Given the description of an element on the screen output the (x, y) to click on. 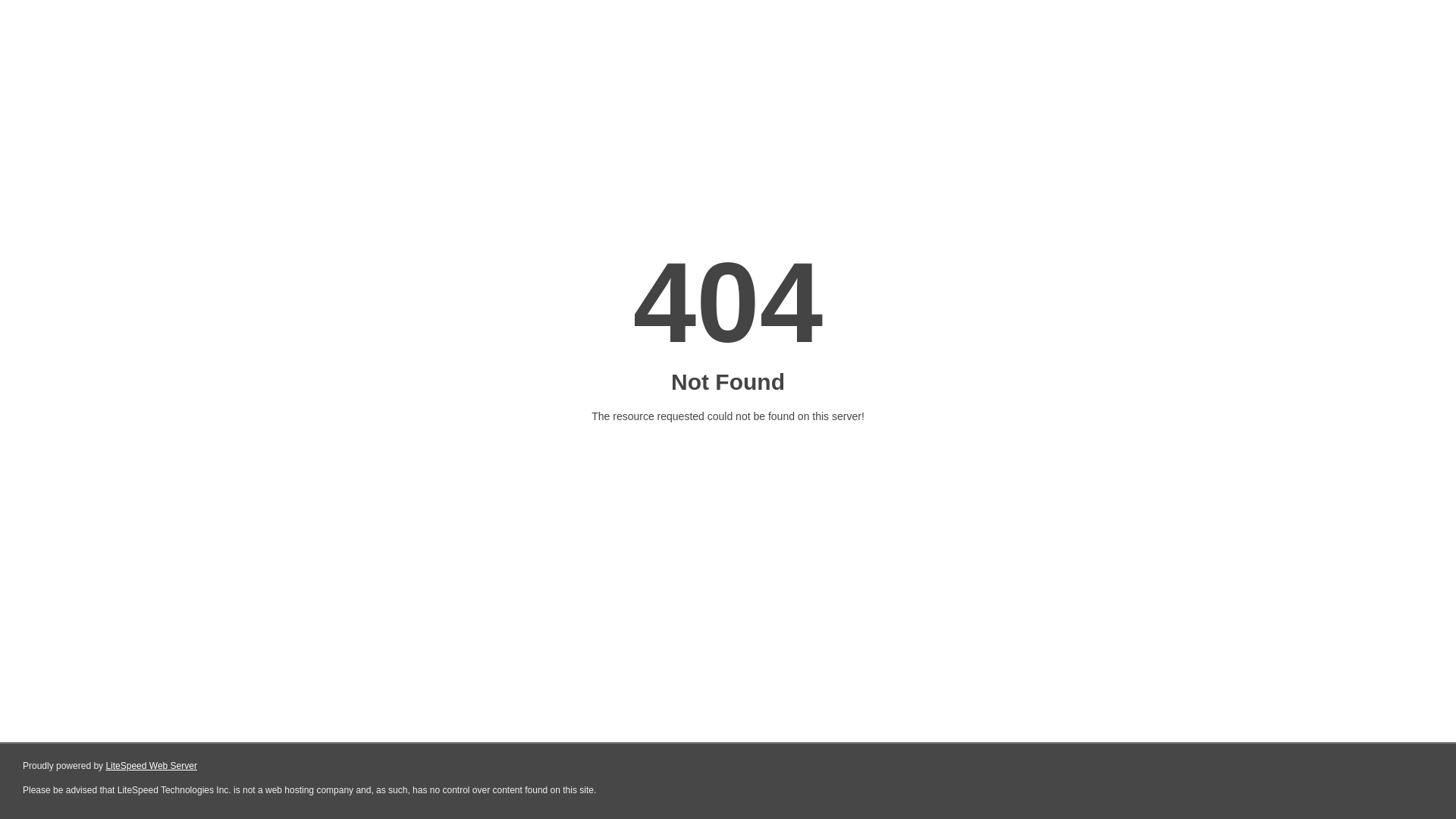
LiteSpeed Web Server Element type: text (151, 765)
